Given the description of an element on the screen output the (x, y) to click on. 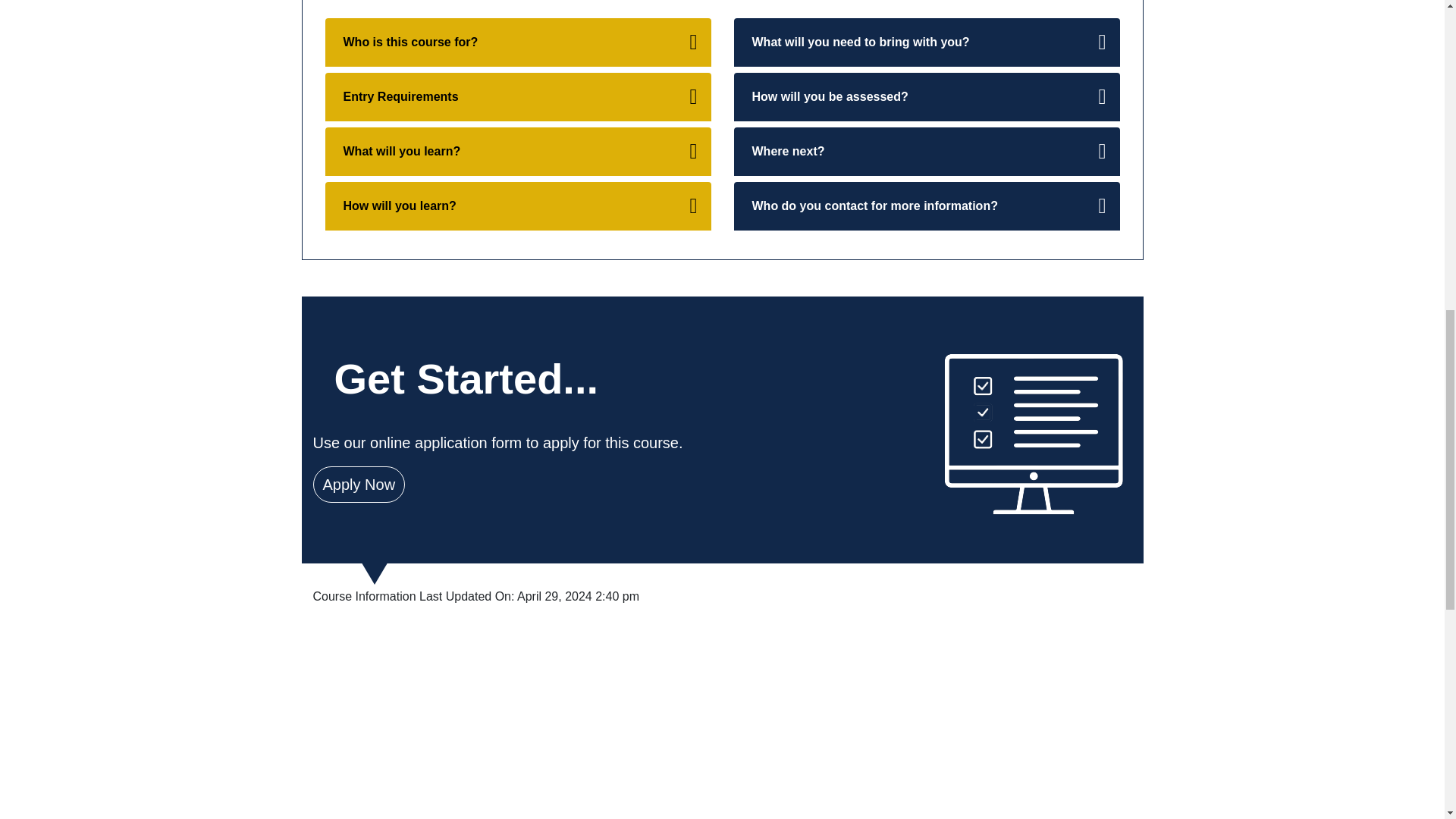
Apply Now (358, 484)
